Given the description of an element on the screen output the (x, y) to click on. 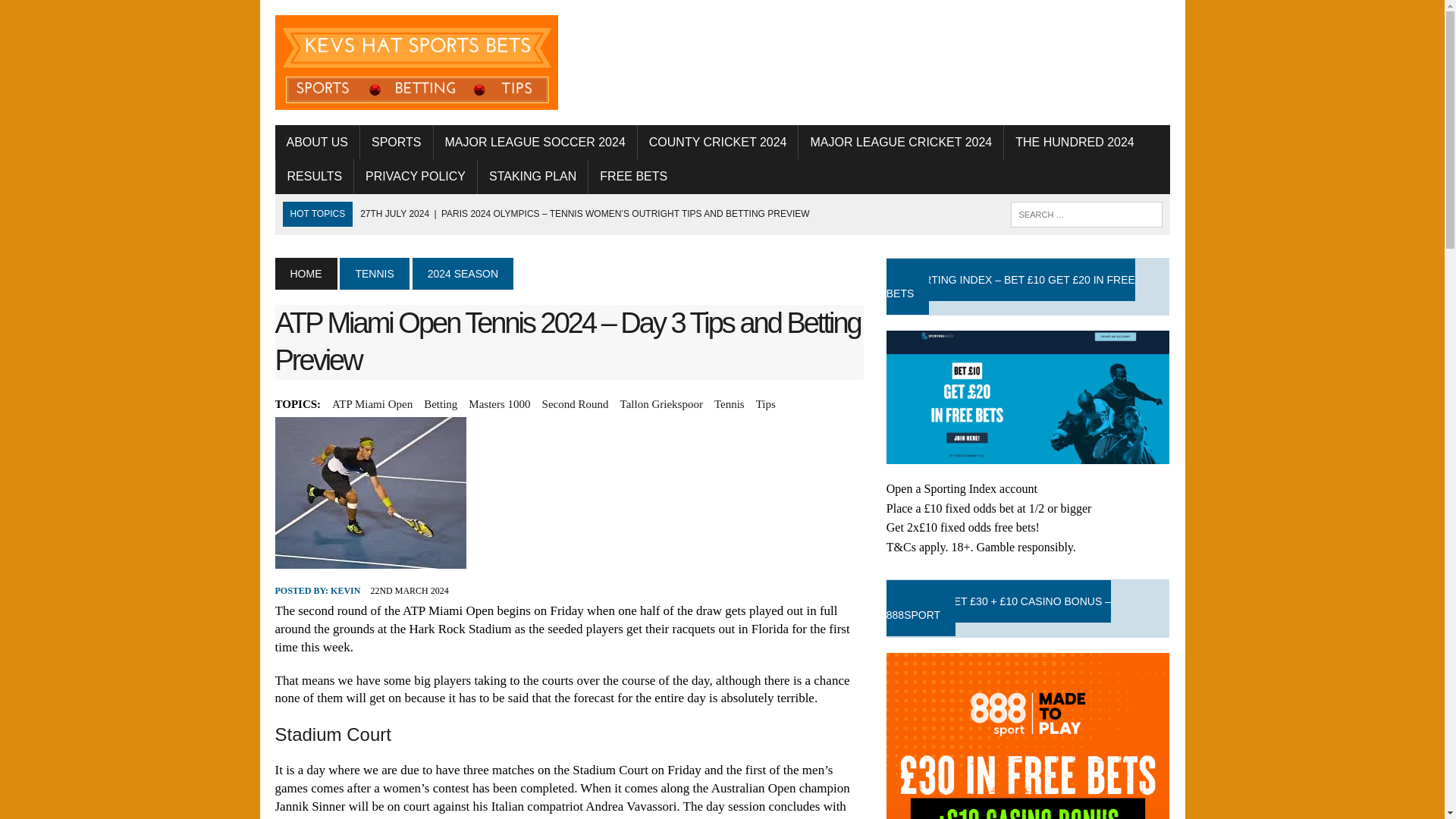
Kev's Hat Sports Bets (416, 62)
